Given the description of an element on the screen output the (x, y) to click on. 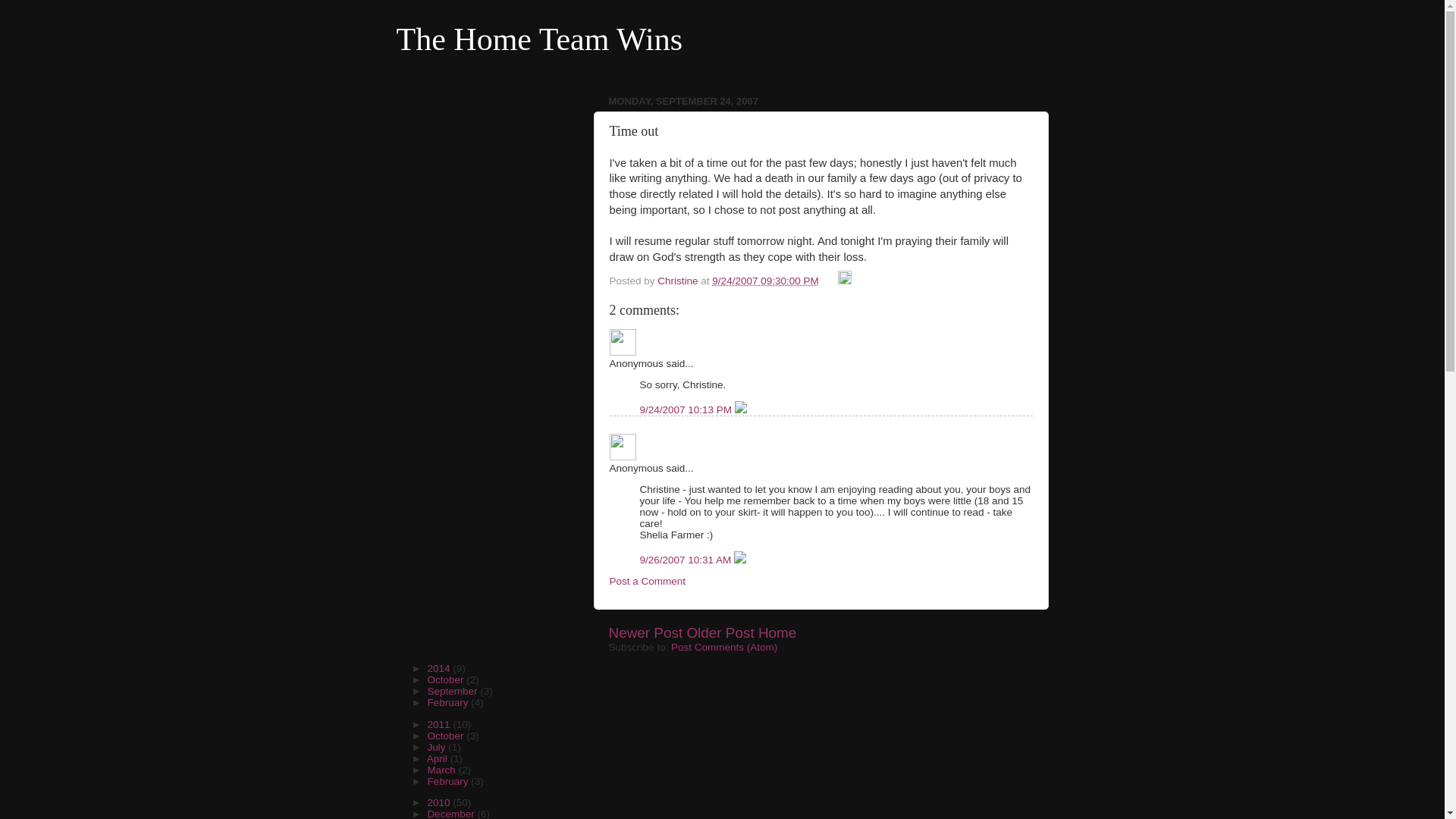
permanent link (764, 280)
Anonymous (623, 342)
Delete Comment (740, 409)
Email Post (829, 280)
March (442, 769)
April (437, 758)
2011 (439, 724)
February (448, 781)
September (453, 690)
Christine (679, 280)
Home (777, 632)
February (448, 702)
Older Post (719, 632)
July (437, 747)
2010 (439, 802)
